Given the description of an element on the screen output the (x, y) to click on. 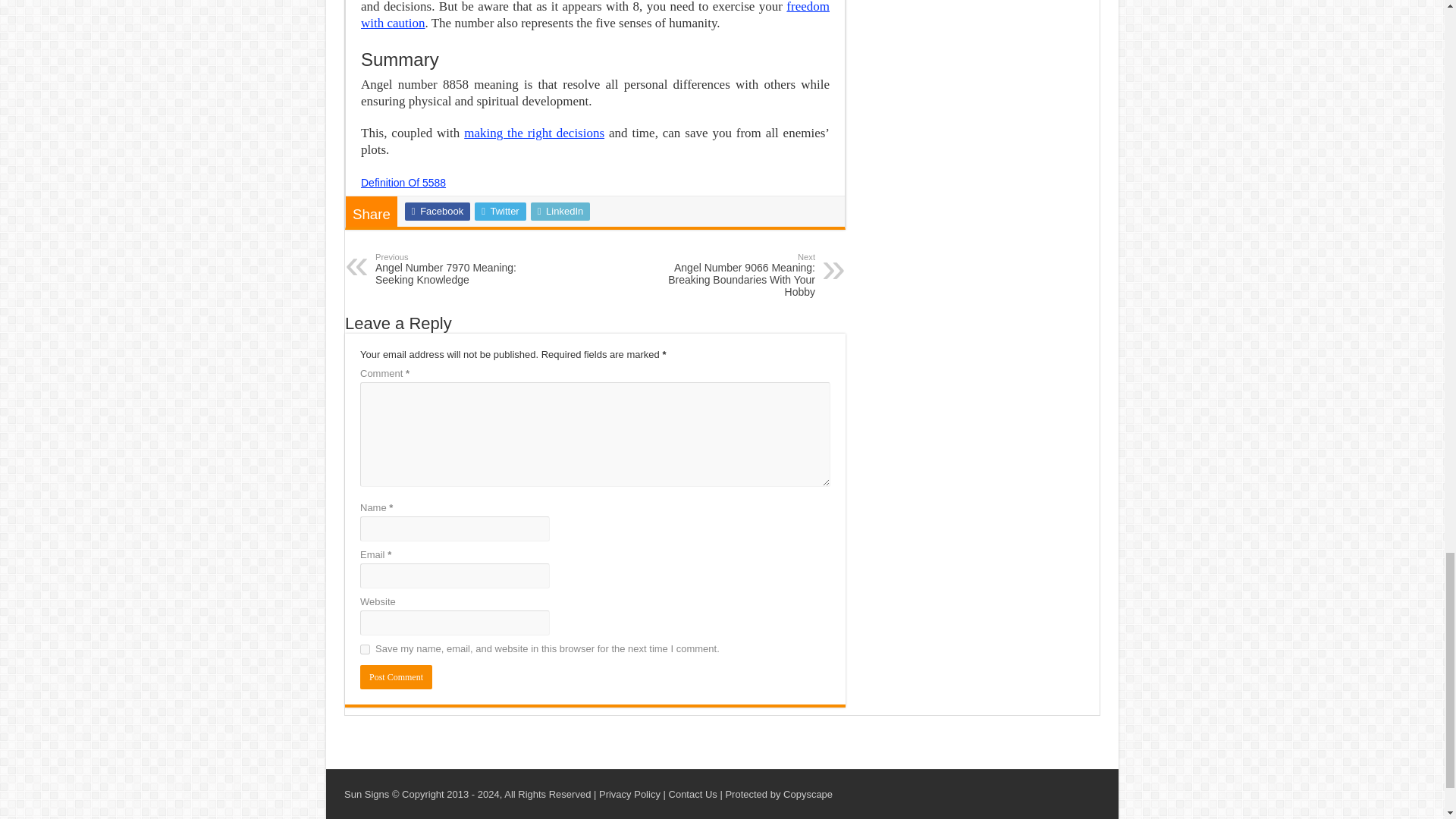
Definition Of 5588 (403, 182)
Post Comment (395, 677)
making the right decisions (534, 133)
LinkedIn (561, 211)
yes (453, 268)
Post Comment (364, 649)
Twitter (395, 677)
freedom with caution (499, 211)
Definition Of 5588 (595, 15)
Facebook (403, 182)
